Given the description of an element on the screen output the (x, y) to click on. 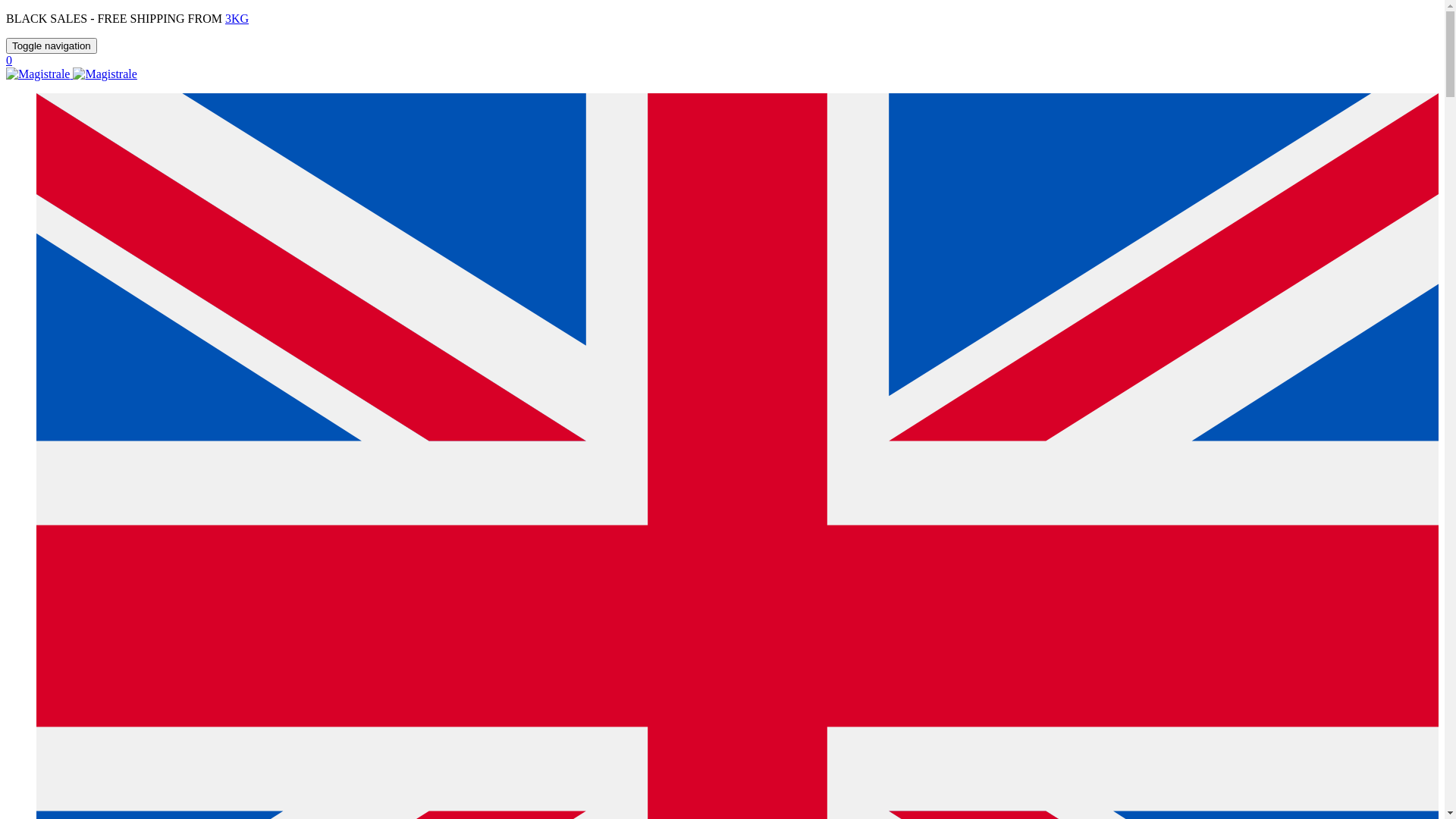
0 Element type: text (722, 59)
Toggle navigation Element type: text (51, 45)
3KG Element type: text (236, 18)
